Given the description of an element on the screen output the (x, y) to click on. 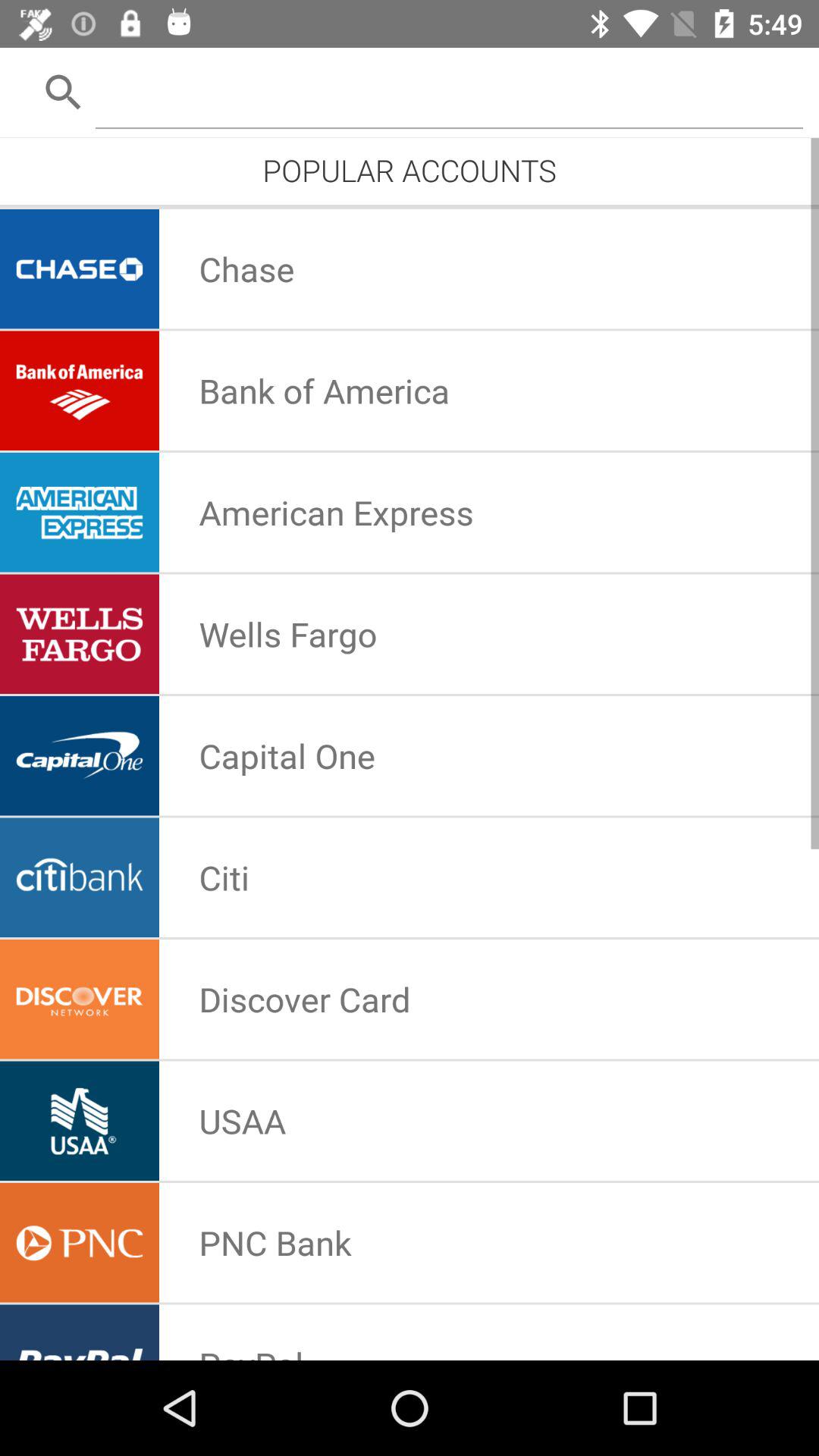
click capital one (287, 755)
